Given the description of an element on the screen output the (x, y) to click on. 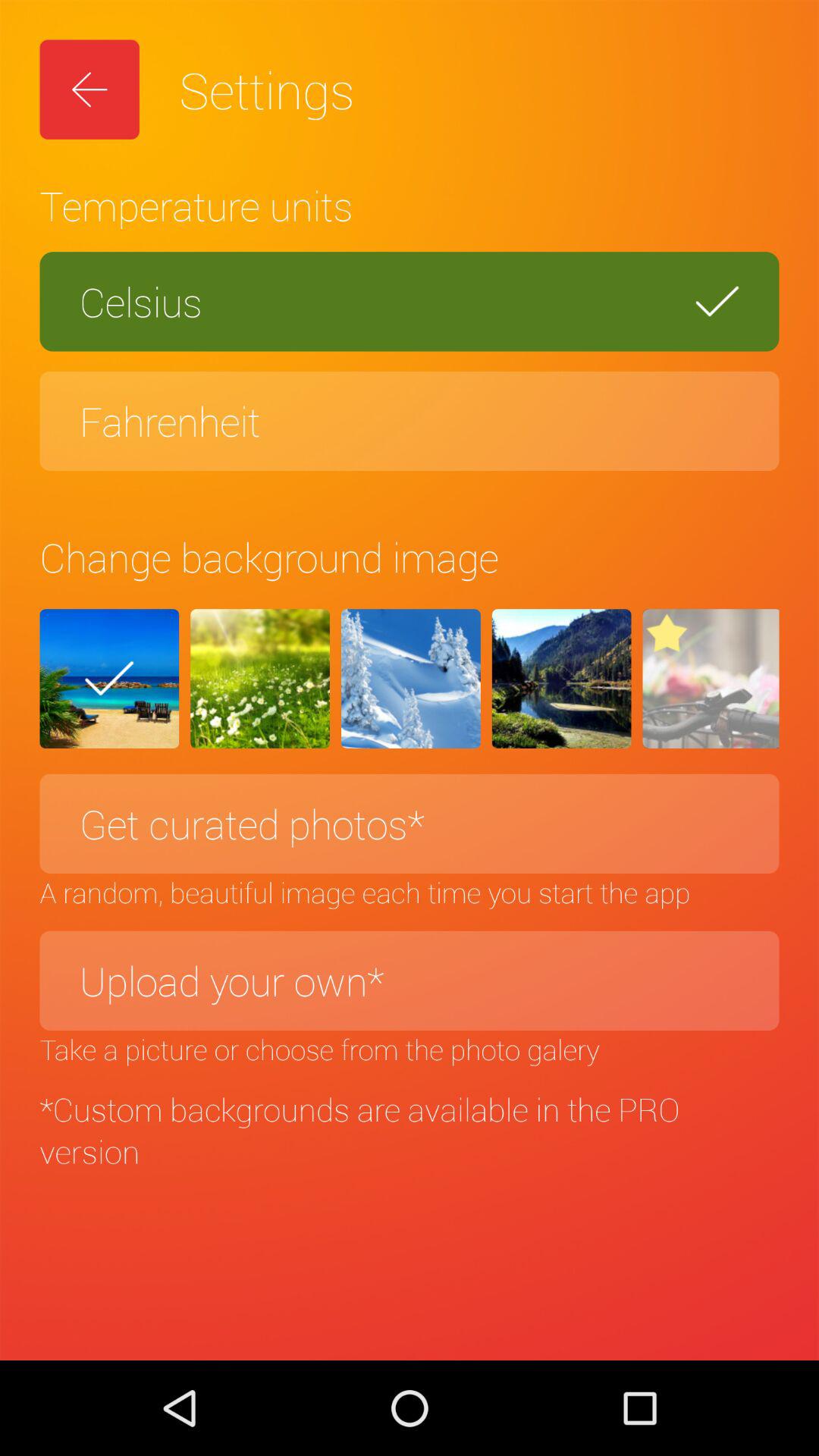
tap the item below the change background image icon (710, 678)
